Given the description of an element on the screen output the (x, y) to click on. 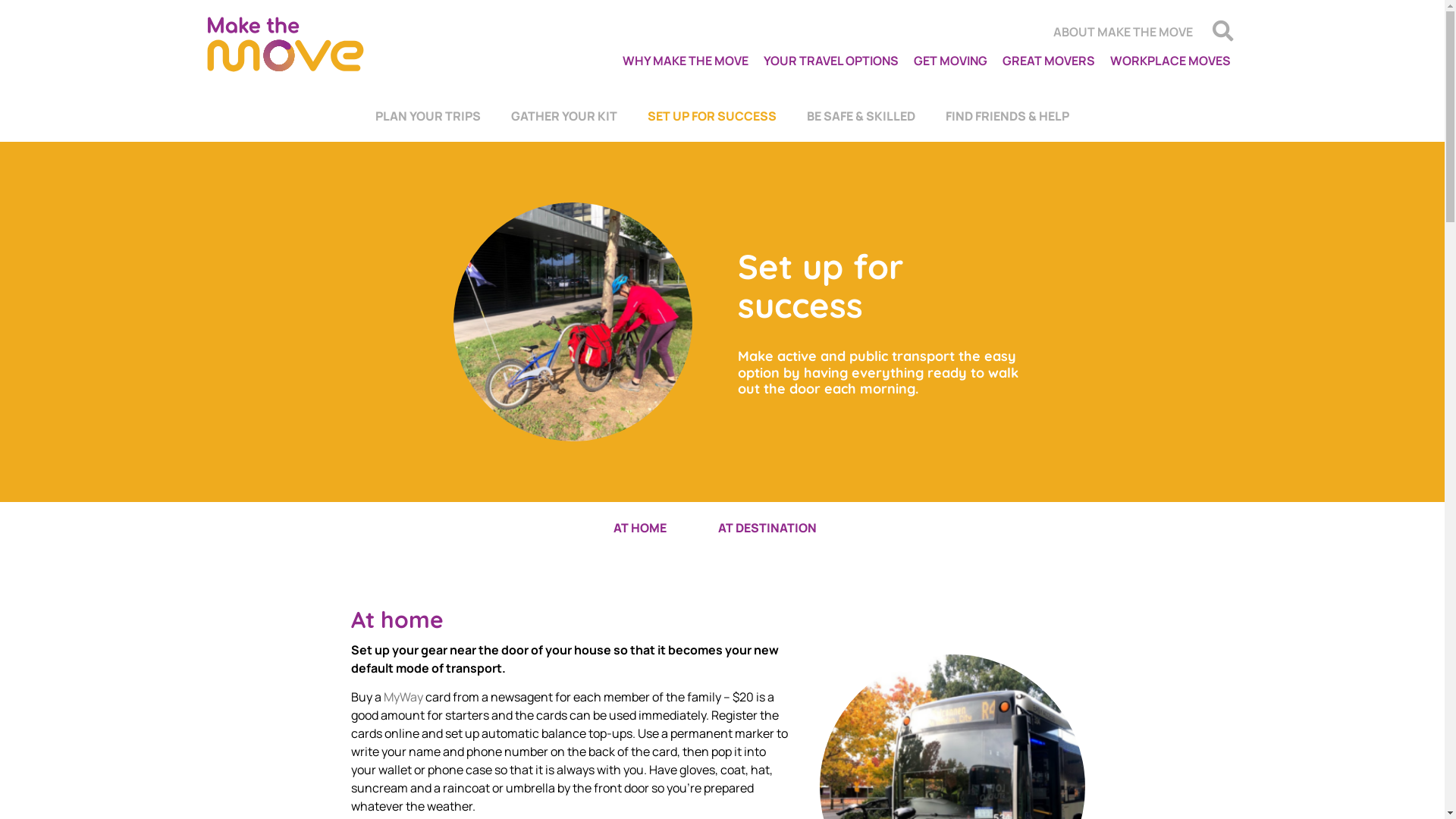
YOUR TRAVEL OPTIONS Element type: text (830, 60)
MyWay Element type: text (403, 696)
ABOUT MAKE THE MOVE Element type: text (1122, 31)
GREAT MOVERS Element type: text (1048, 60)
AT DESTINATION Element type: text (766, 527)
AT HOME Element type: text (639, 527)
GET MOVING Element type: text (949, 60)
FIND FRIENDS & HELP Element type: text (1007, 115)
PLAN YOUR TRIPS Element type: text (427, 115)
WHY MAKE THE MOVE Element type: text (654, 60)
WORKPLACE MOVES Element type: text (1170, 60)
GREAT MOVERS Element type: text (1056, 56)
GATHER YOUR KIT Element type: text (563, 115)
BE SAFE & SKILLED Element type: text (860, 115)
WORKPLACE MOVES Element type: text (1177, 56)
SET UP FOR SUCCESS Element type: text (711, 115)
YOUR TRAVEL OPTIONS Element type: text (814, 60)
WHY MAKE THE MOVE Element type: text (684, 60)
GET MOVING Element type: text (949, 60)
